Given the description of an element on the screen output the (x, y) to click on. 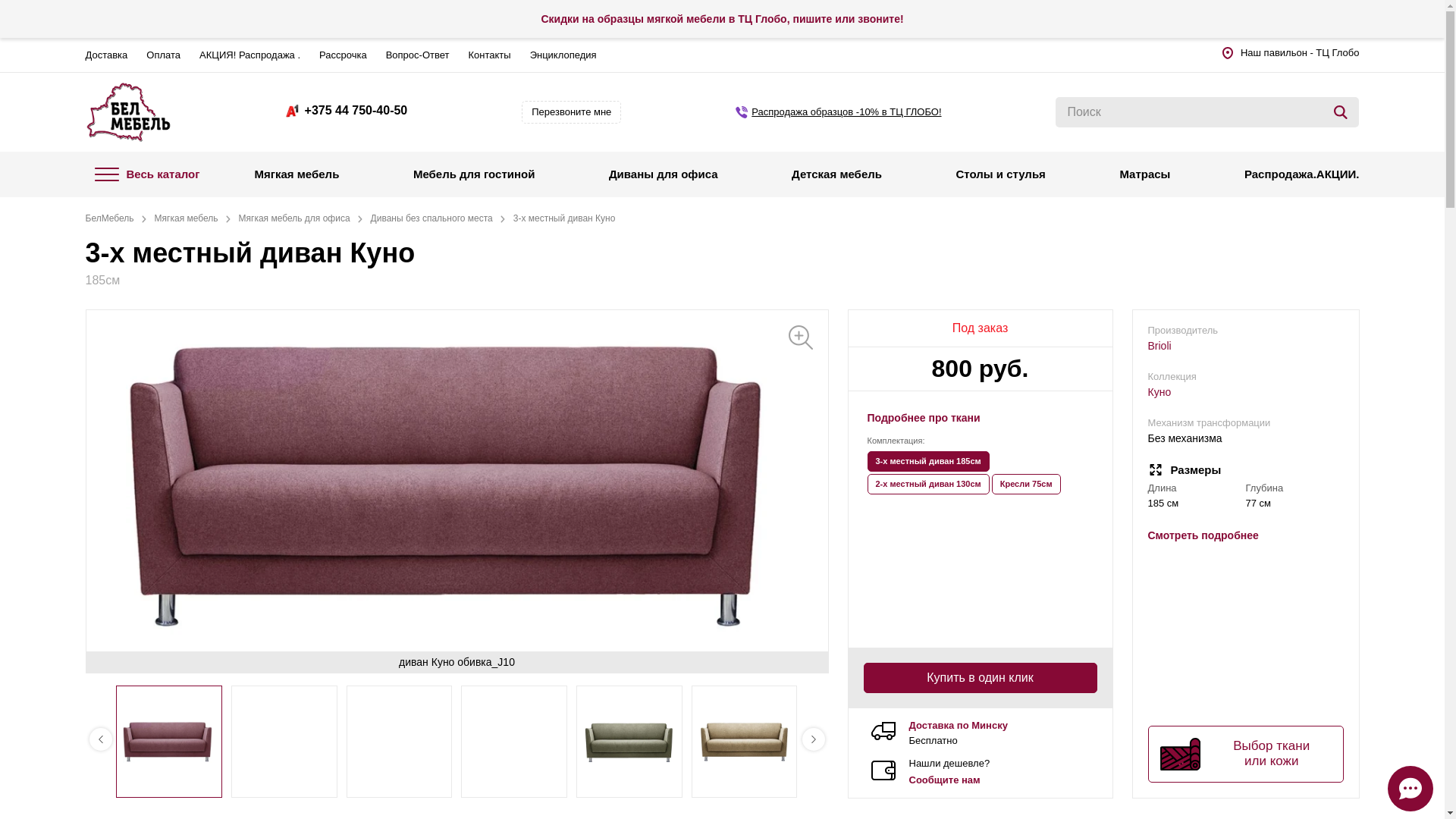
Brioli Element type: text (1183, 345)
+375 44 750-40-50 Element type: text (346, 110)
